Given the description of an element on the screen output the (x, y) to click on. 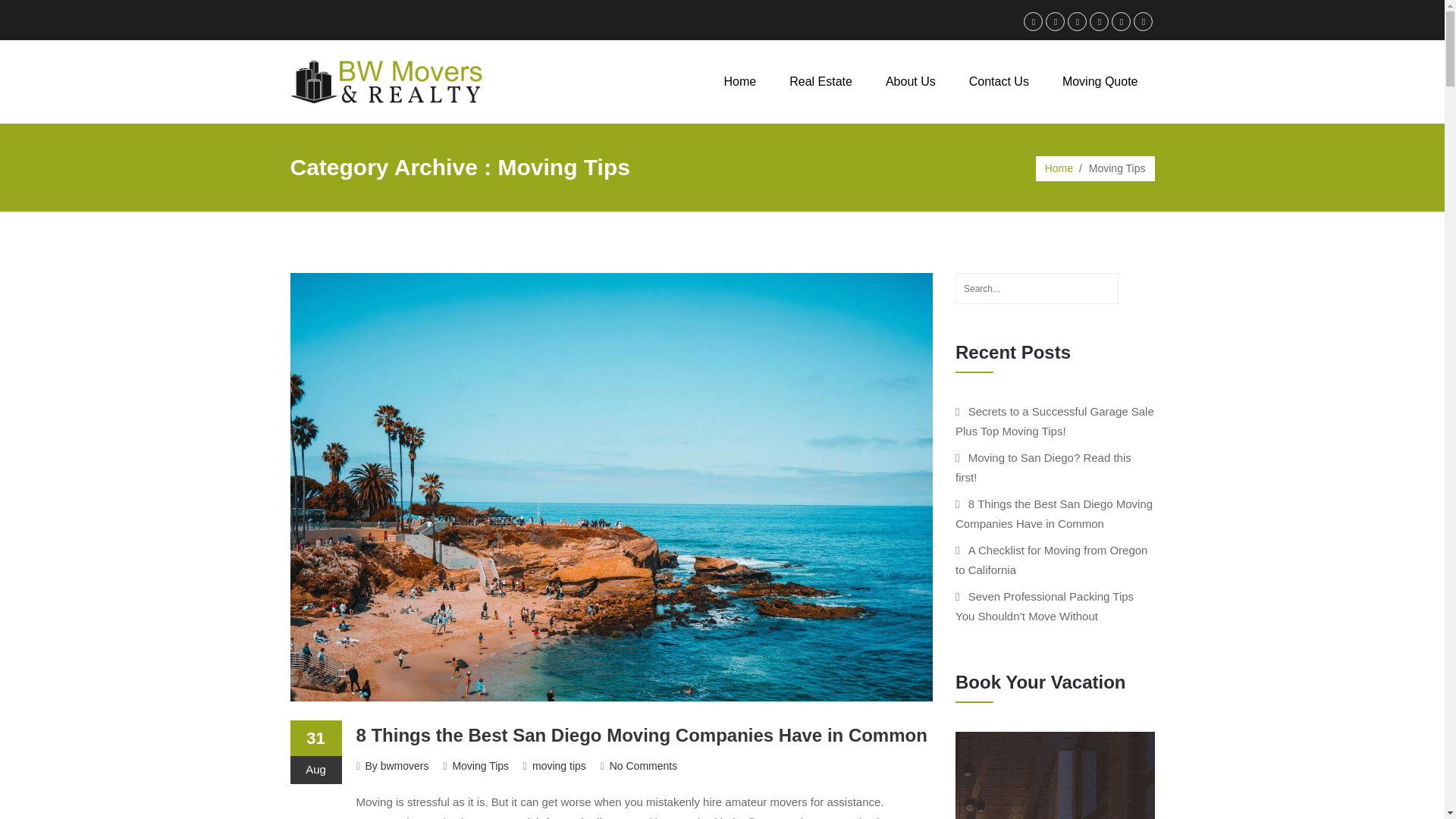
moving tips (559, 766)
No Comments (643, 766)
Real Estate (821, 81)
8 Things the Best San Diego Moving Companies Have in Common (640, 734)
Moving Quote (1099, 81)
About Us (910, 81)
Moving Tips (479, 766)
Home (1059, 168)
Search (1136, 287)
Home (740, 81)
bwmovers (404, 766)
Contact Us (998, 81)
